Given the description of an element on the screen output the (x, y) to click on. 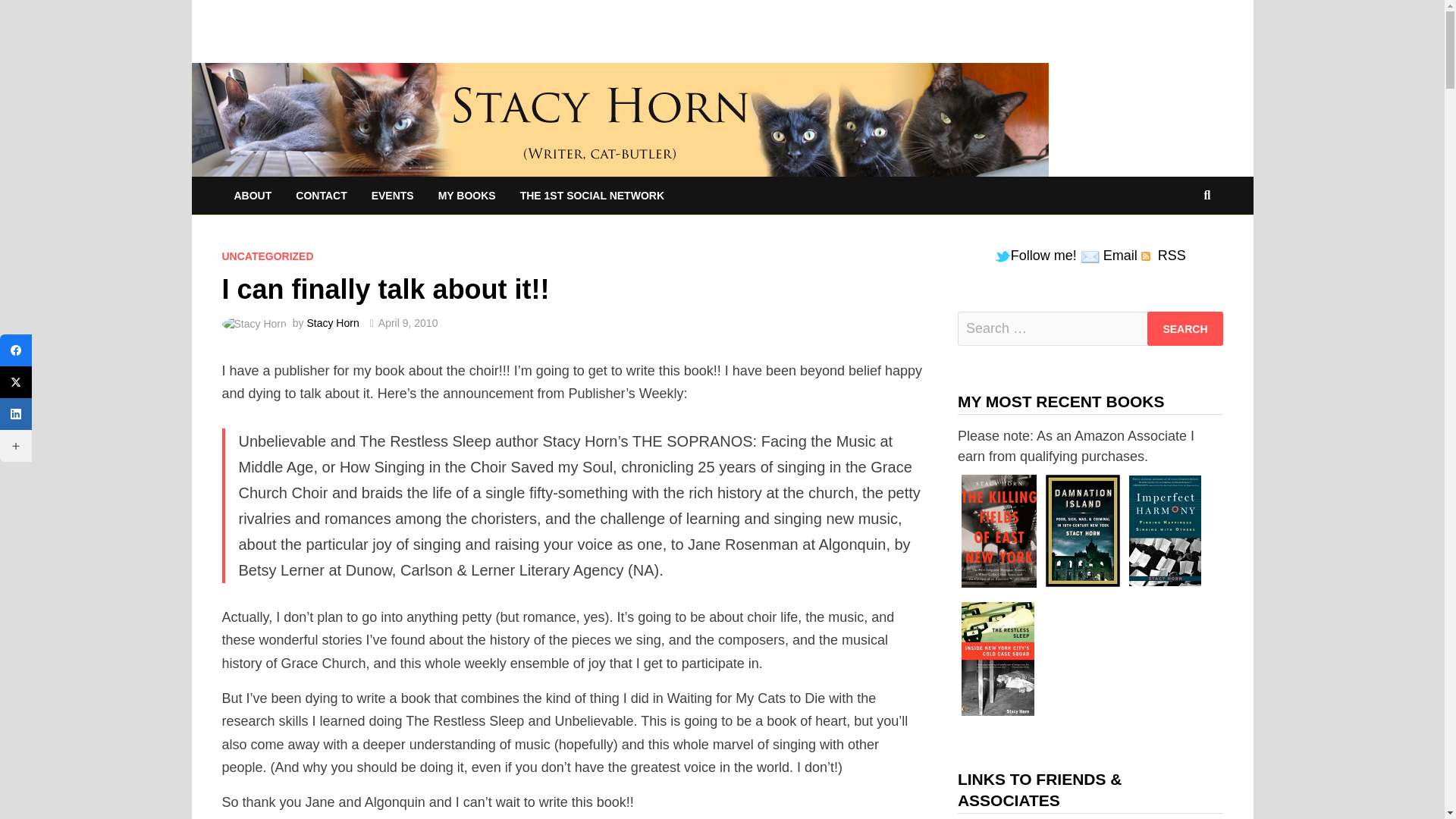
Search (1185, 328)
MY BOOKS (467, 195)
ABOUT (252, 195)
Email (1089, 256)
UNCATEGORIZED (267, 256)
EVENTS (392, 195)
April 9, 2010 (408, 322)
CONTACT (320, 195)
RSS Feed (1145, 256)
THE 1ST SOCIAL NETWORK (592, 195)
Twitter Follow (1002, 256)
Search (1185, 328)
Stacy Horn (331, 322)
Stacy Horn (619, 118)
